Given the description of an element on the screen output the (x, y) to click on. 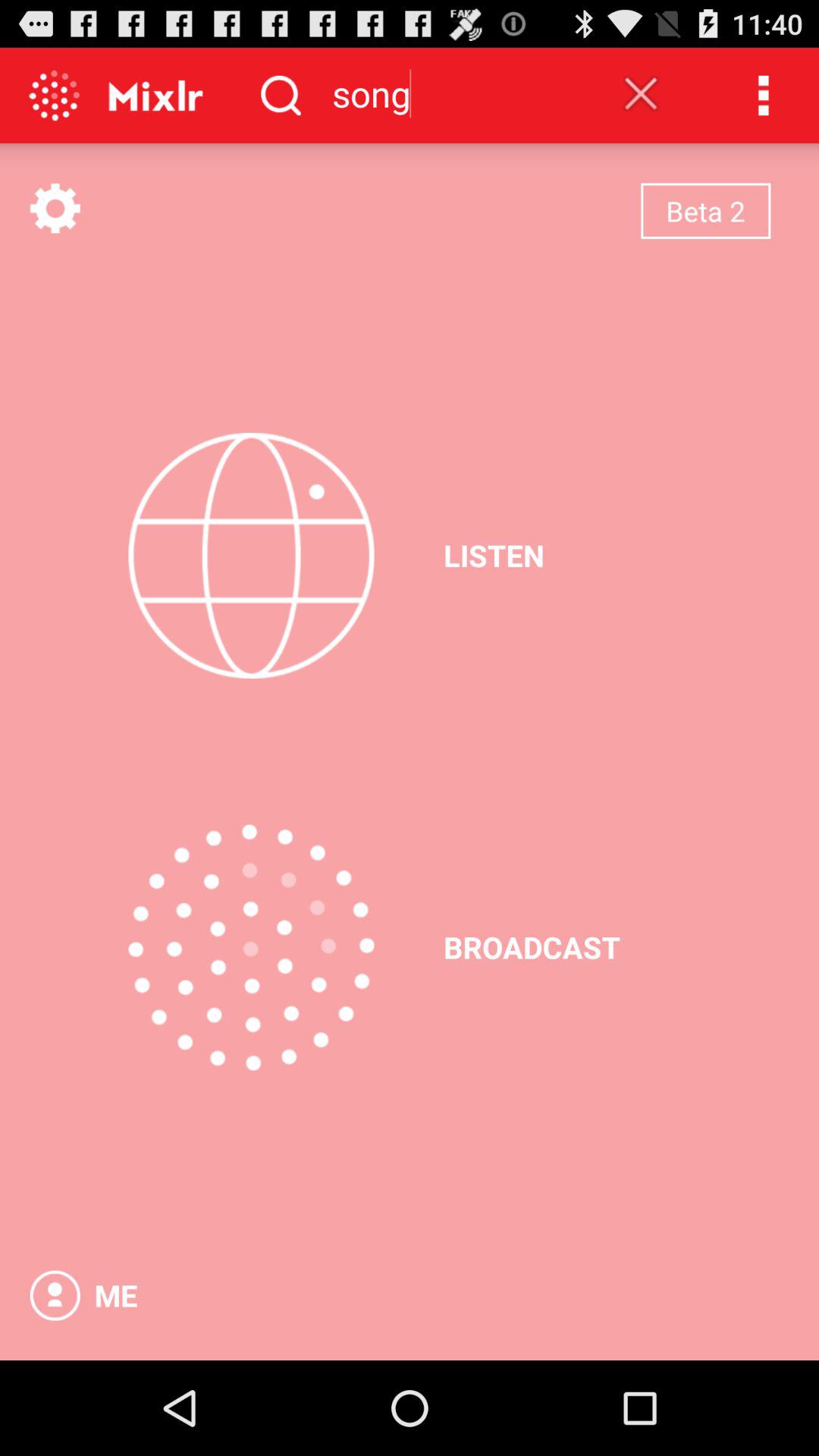
turn on the app next to the me (55, 1295)
